Given the description of an element on the screen output the (x, y) to click on. 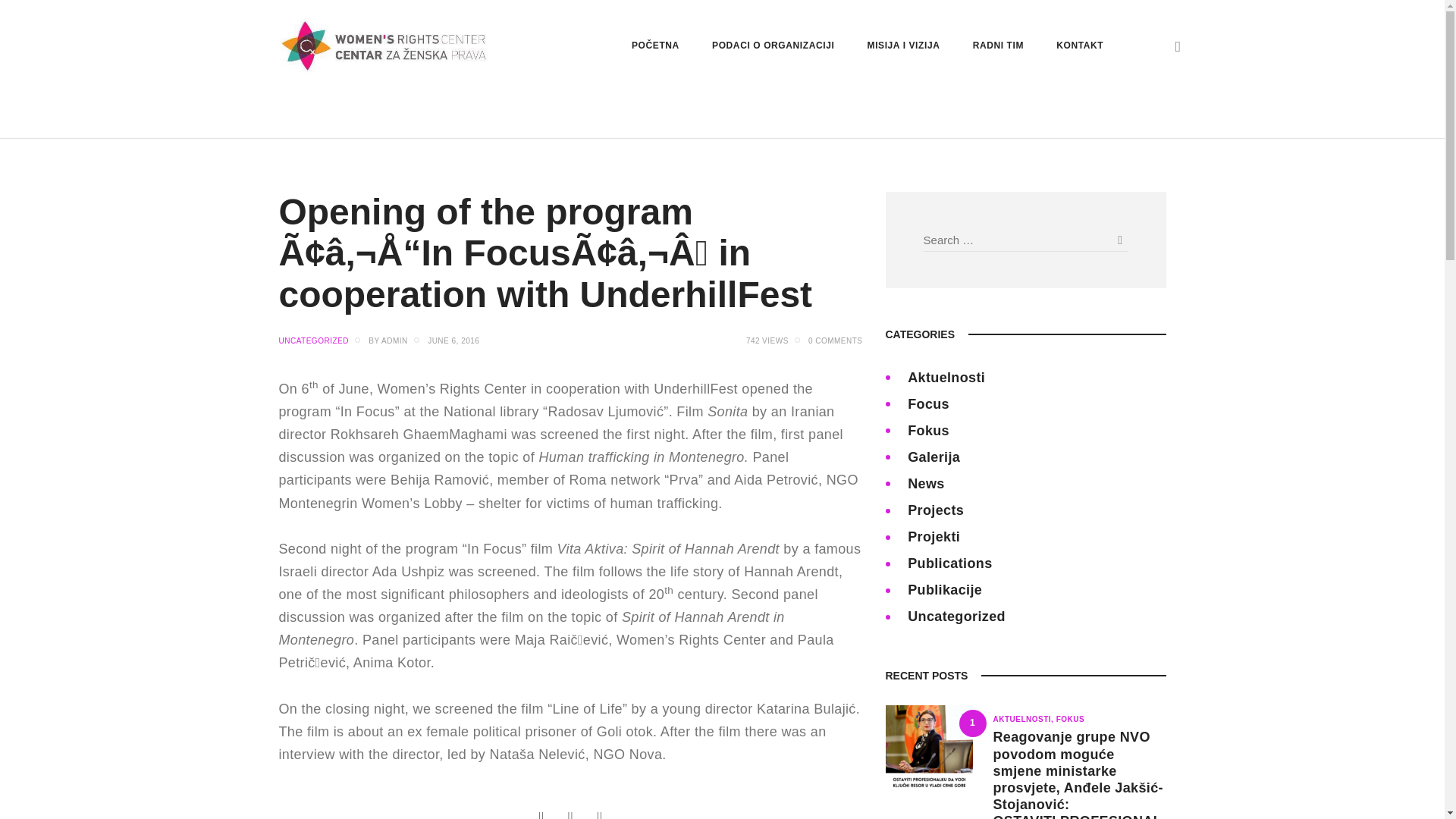
View all posts in Fokus (1070, 718)
0COMMENTS (834, 340)
Search (1117, 240)
RADNI TIM (998, 45)
BY ADMIN (396, 340)
UNCATEGORIZED (314, 340)
MISIJA I VIZIJA (903, 45)
Search (1117, 240)
View all posts in Aktuelnosti (1024, 718)
KONTAKT (1080, 45)
PODACI O ORGANIZACIJI (772, 45)
